Given the description of an element on the screen output the (x, y) to click on. 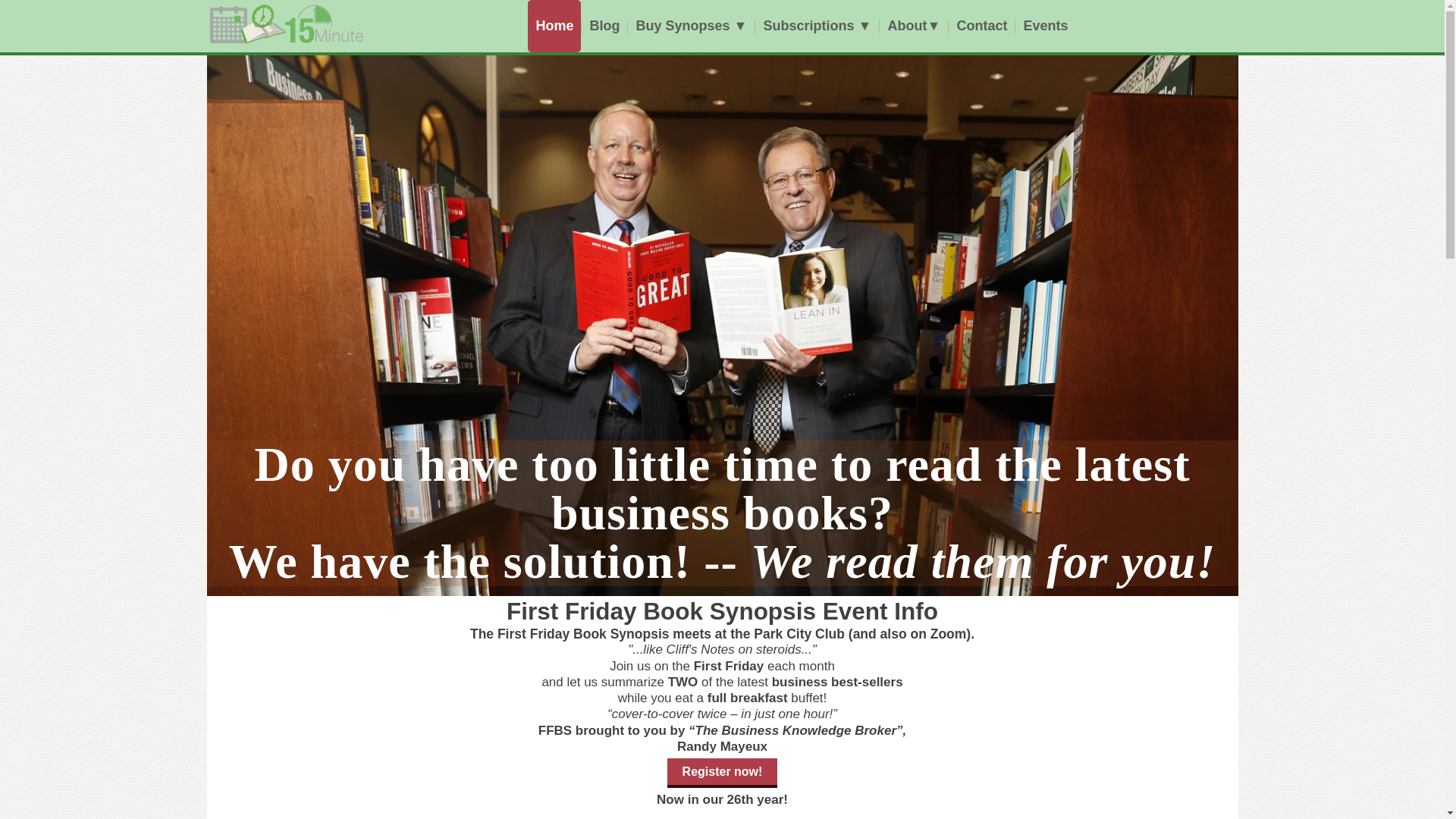
Events Element type: text (1045, 26)
Blog Element type: text (604, 26)
Home Element type: text (553, 26)
Contact Element type: text (981, 26)
Register now! Element type: text (722, 772)
